Given the description of an element on the screen output the (x, y) to click on. 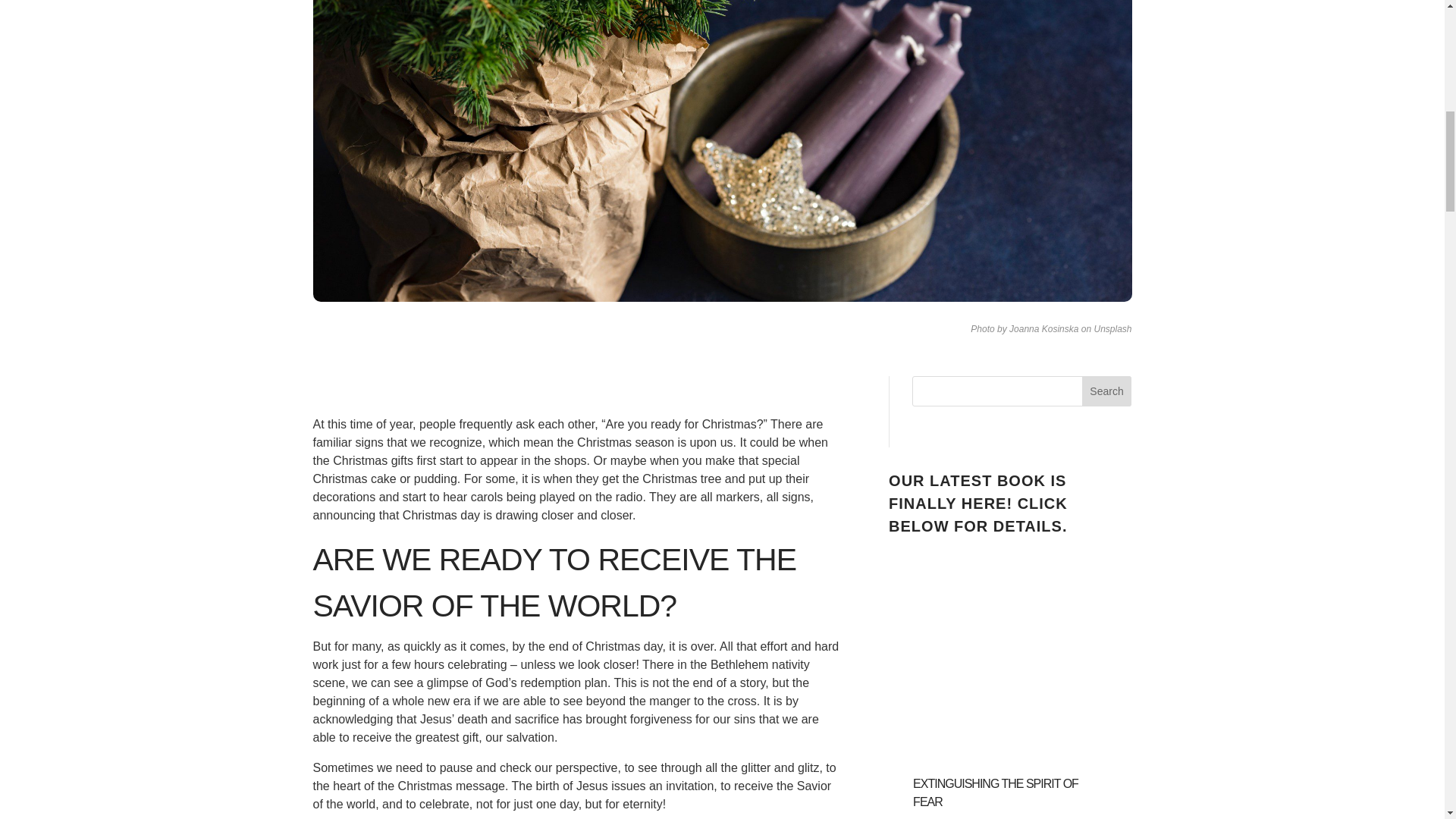
Search (1106, 390)
Search (1106, 390)
